Given the description of an element on the screen output the (x, y) to click on. 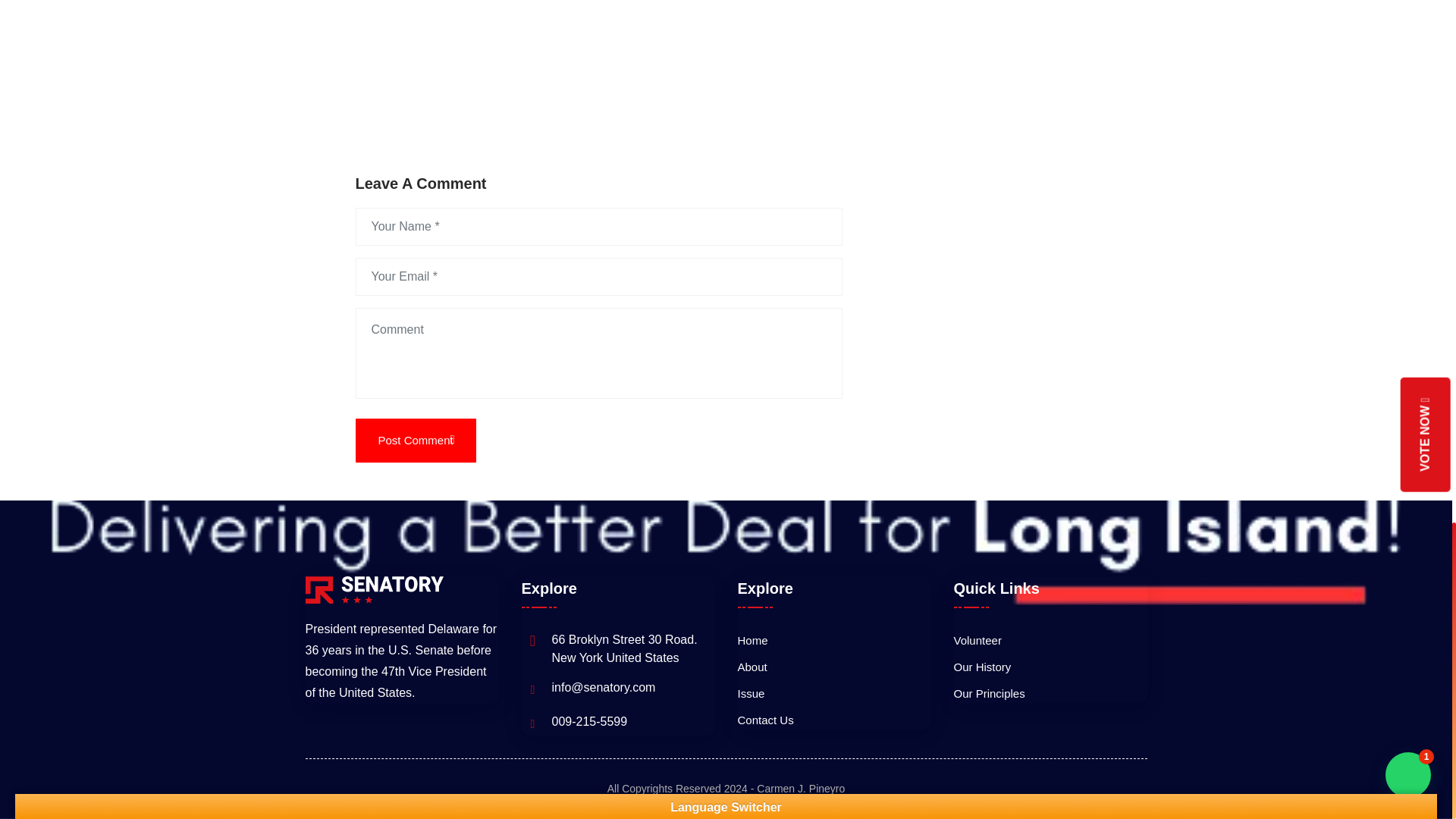
Post Comment (415, 440)
Google maps iframe displaying the address to Grand Tower (682, 63)
